Given the description of an element on the screen output the (x, y) to click on. 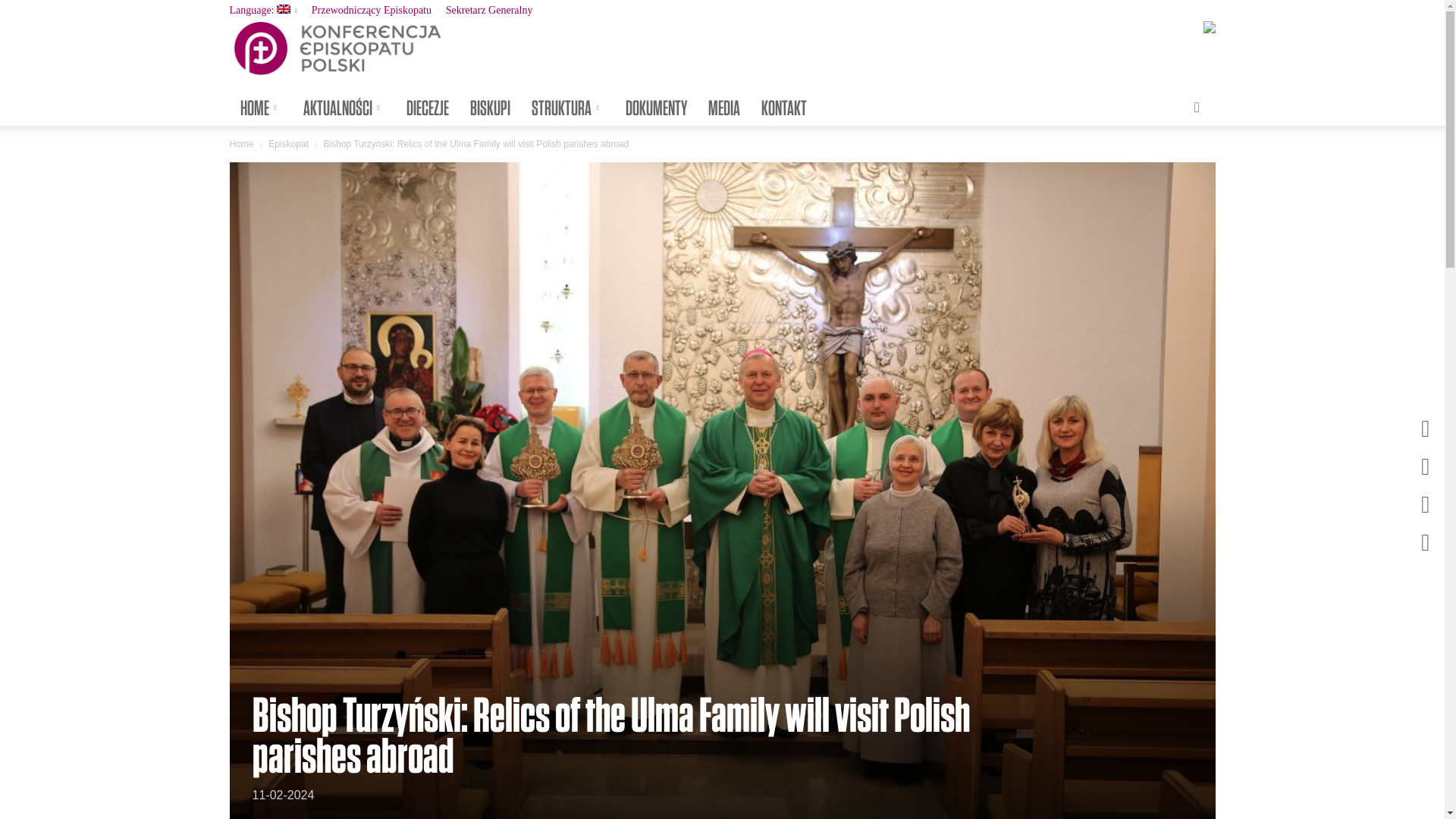
English (262, 9)
View all posts in Episkopat (287, 143)
